Given the description of an element on the screen output the (x, y) to click on. 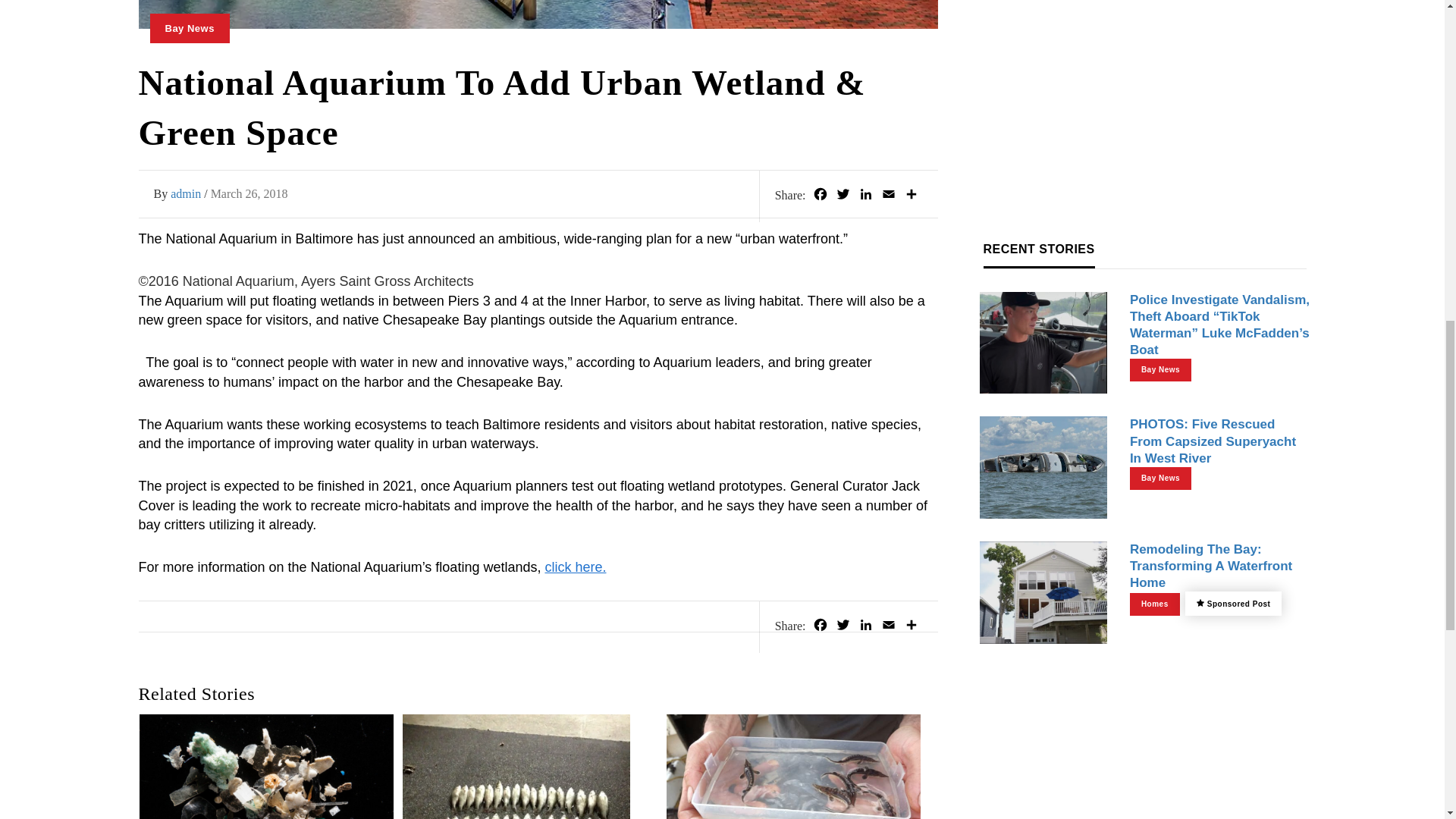
Email (887, 196)
Email (887, 627)
LinkedIn (864, 627)
3rd party ad content (1144, 11)
Twitter (842, 196)
Twitter (842, 627)
3rd party ad content (1144, 124)
Facebook (819, 627)
LinkedIn (864, 196)
Facebook (819, 196)
